Given the description of an element on the screen output the (x, y) to click on. 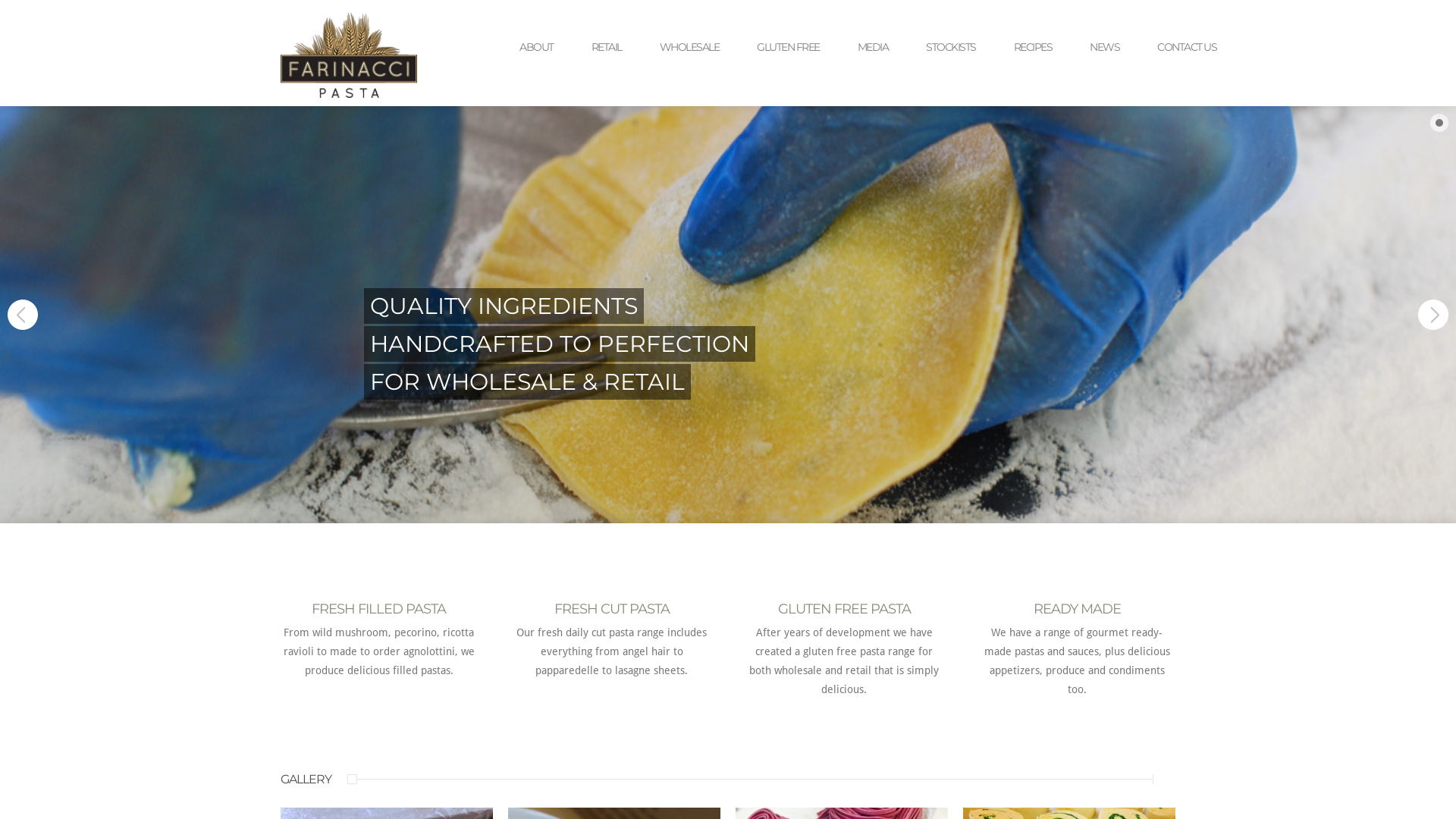
ABOUT Element type: text (536, 46)
WHOLESALE Element type: text (689, 46)
GLUTEN FREE Element type: text (787, 46)
NEWS Element type: text (1104, 46)
CONTACT US Element type: text (1186, 46)
RECIPES Element type: text (1032, 46)
RETAIL Element type: text (606, 46)
MEDIA Element type: text (872, 46)
STOCKISTS Element type: text (950, 46)
